Given the description of an element on the screen output the (x, y) to click on. 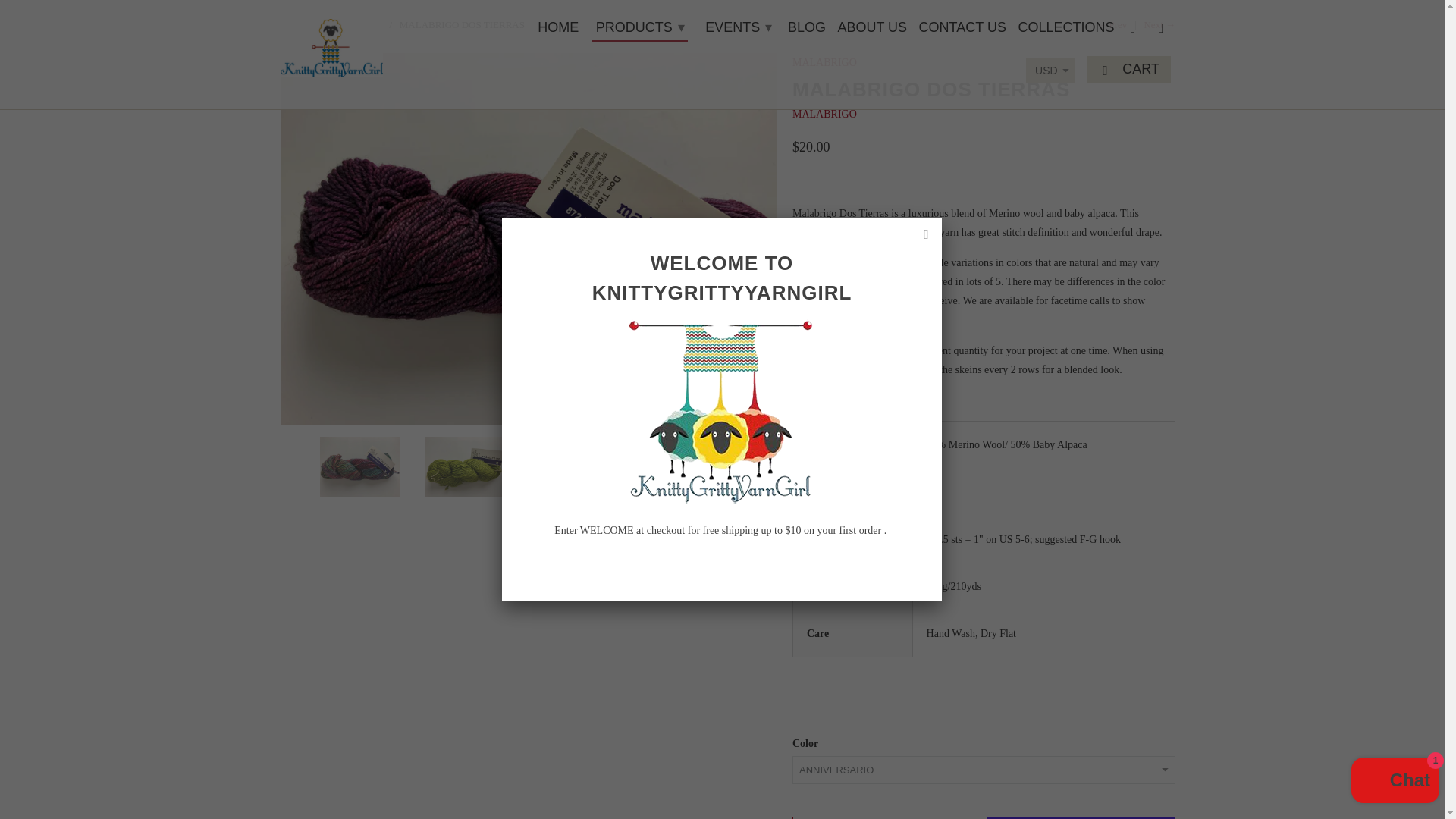
MALABRIGO (824, 113)
Knitty Gritty Yarn Girl (292, 24)
HOME (557, 29)
Knitty Gritty Yarn Girl (331, 43)
MALABRIGO (351, 24)
